Given the description of an element on the screen output the (x, y) to click on. 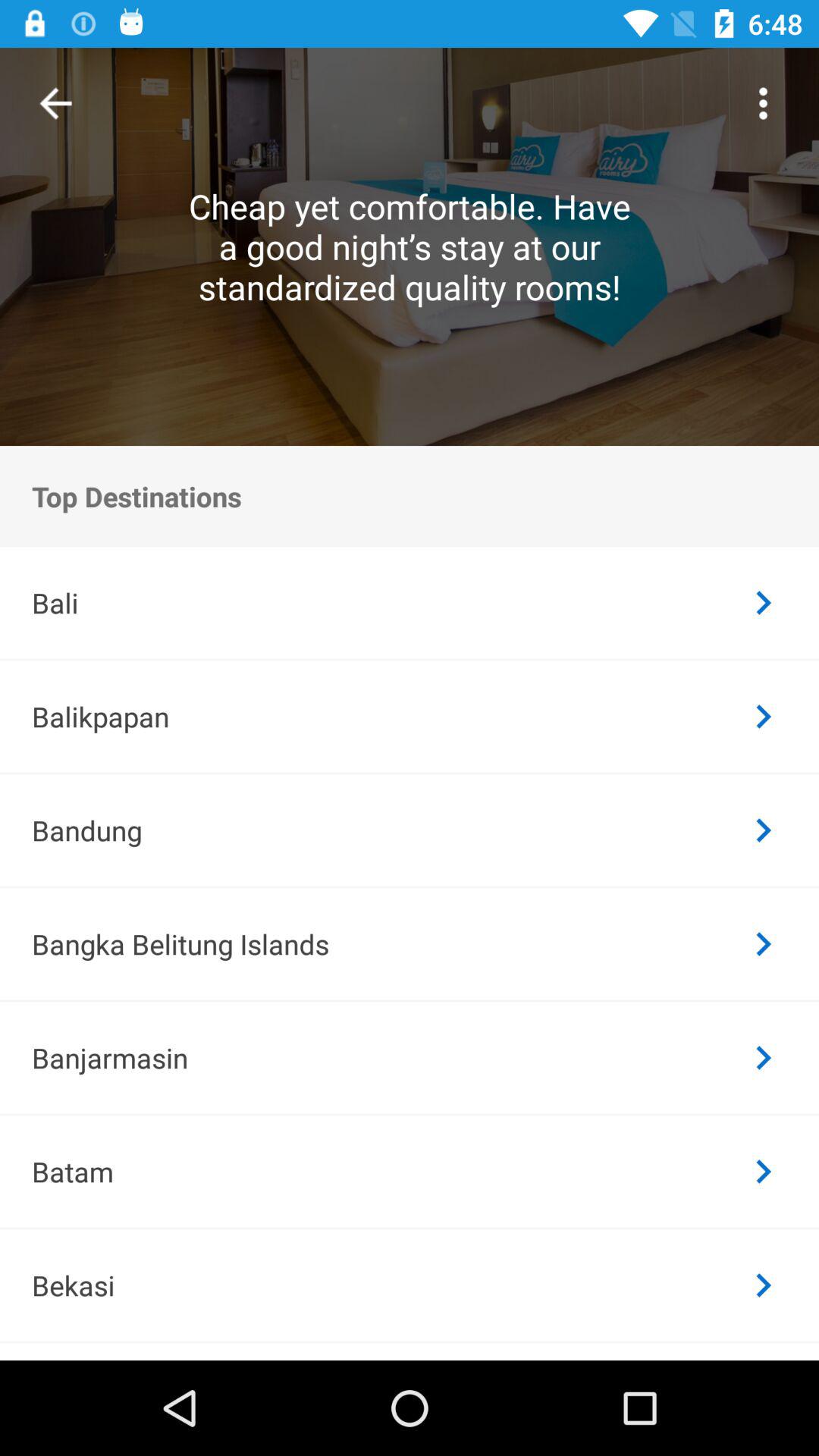
more options (763, 103)
